Given the description of an element on the screen output the (x, y) to click on. 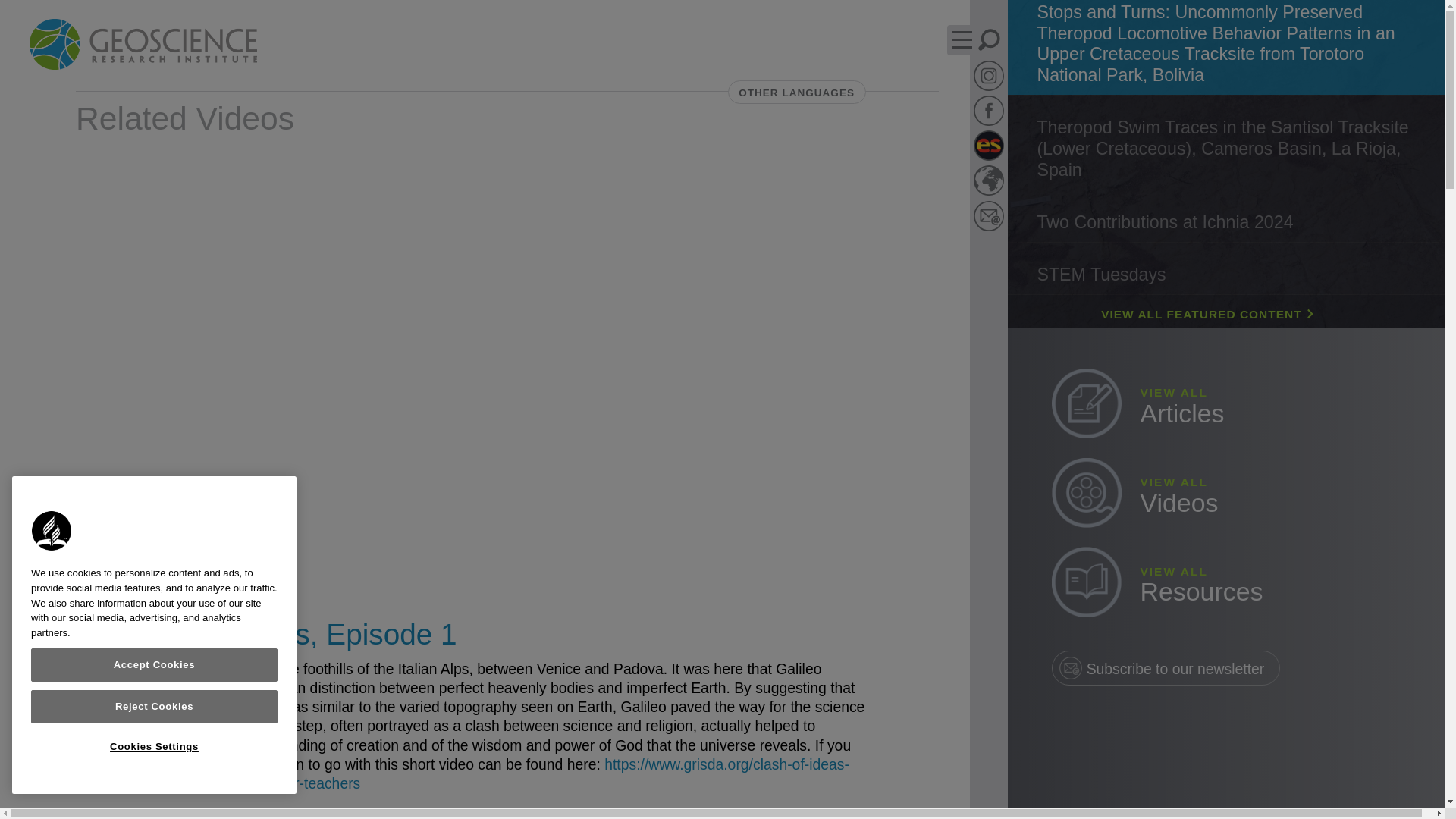
Company Logo (51, 530)
OTHER LANGUAGES (797, 92)
